Given the description of an element on the screen output the (x, y) to click on. 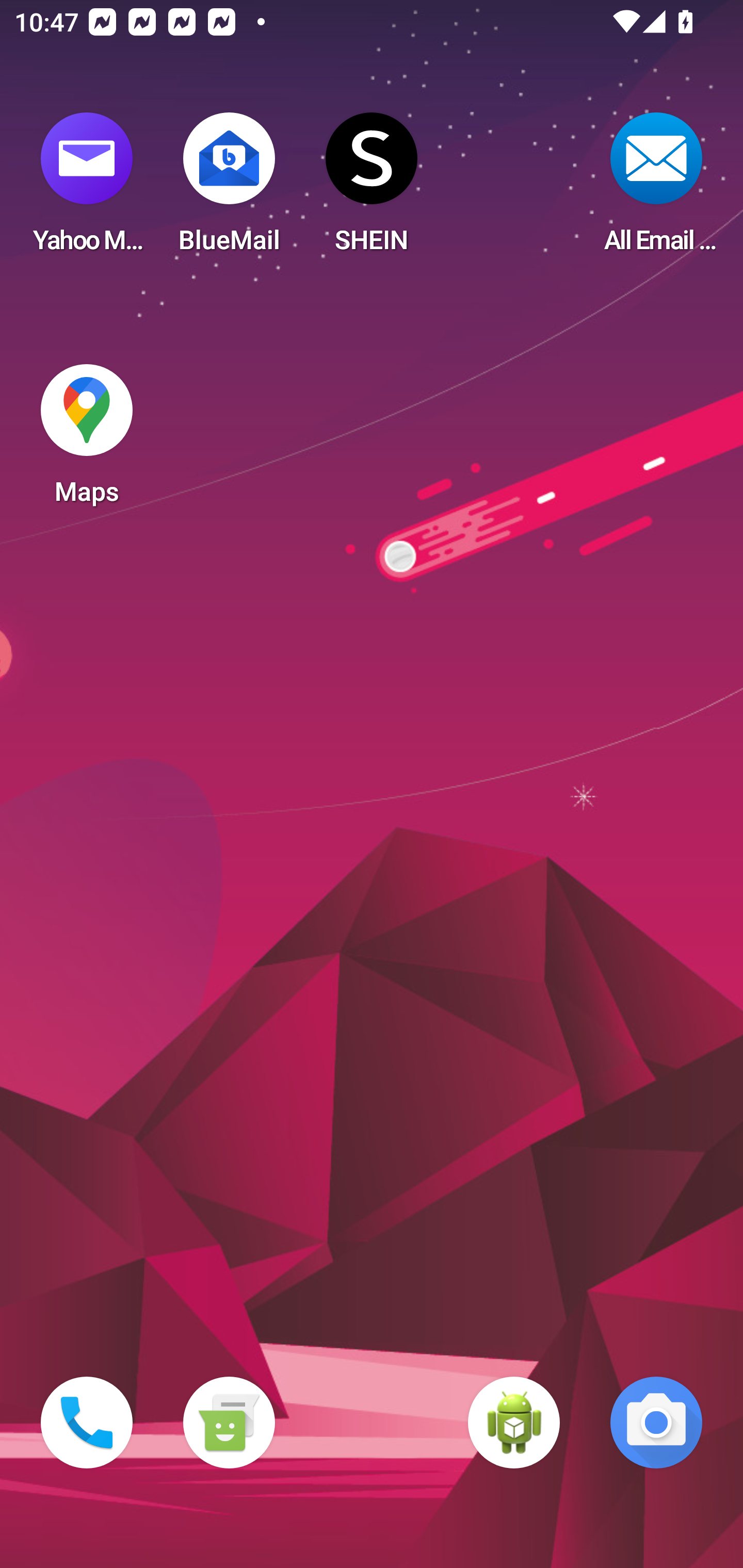
Yahoo Mail (86, 188)
BlueMail (228, 188)
SHEIN (371, 188)
All Email Connect (656, 188)
Maps (86, 440)
Phone (86, 1422)
Messaging (228, 1422)
WebView Browser Tester (513, 1422)
Camera (656, 1422)
